Given the description of an element on the screen output the (x, y) to click on. 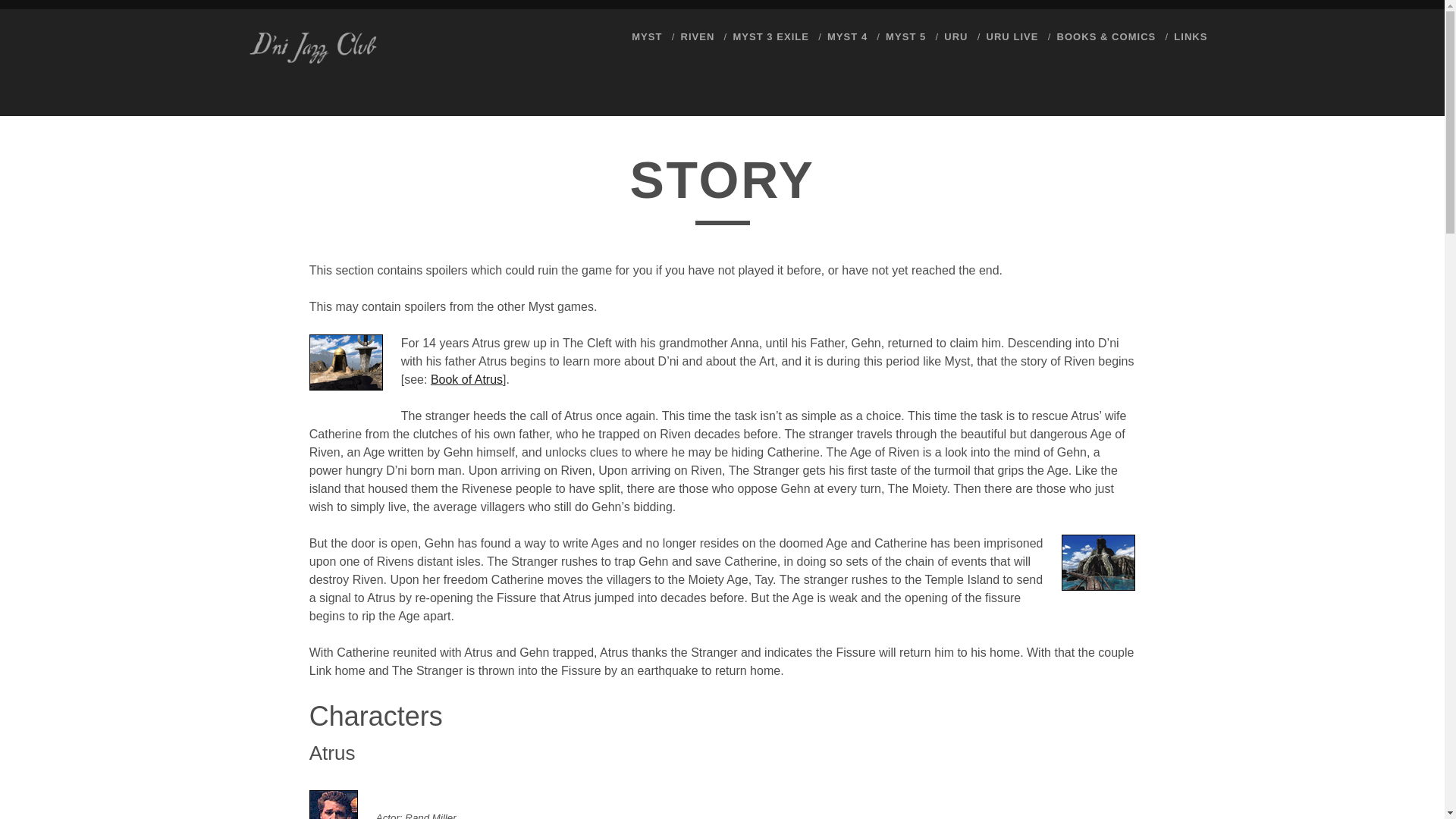
RIVEN (696, 36)
The Book of Atrus (466, 379)
MYST 5 (905, 36)
MYST 4 (847, 36)
MYST (646, 36)
MYST 3 EXILE (770, 36)
